Given the description of an element on the screen output the (x, y) to click on. 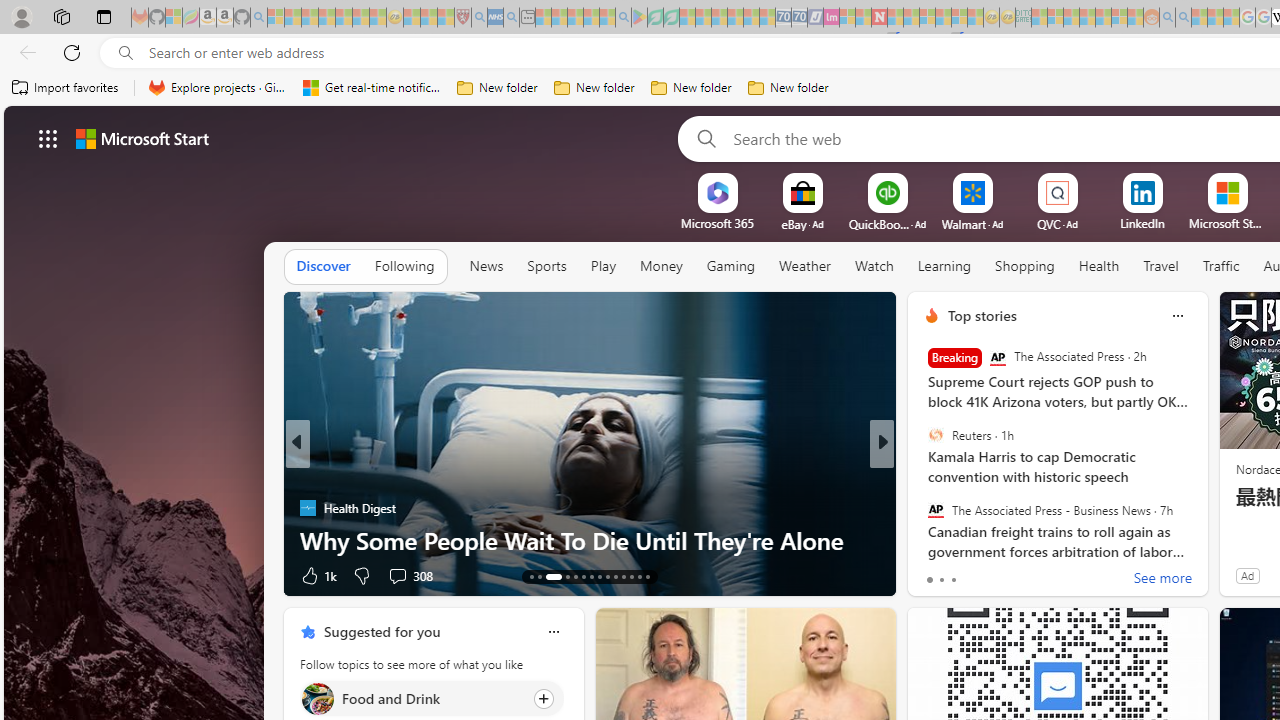
To get missing image descriptions, open the context menu. (717, 192)
1k Like (317, 574)
DITOGAMES AG Imprint - Sleeping (1023, 17)
Sports (546, 267)
Health Digest (307, 507)
28 Like (934, 574)
Money (661, 267)
View comments 84 Comment (1029, 574)
google - Search - Sleeping (623, 17)
